Given the description of an element on the screen output the (x, y) to click on. 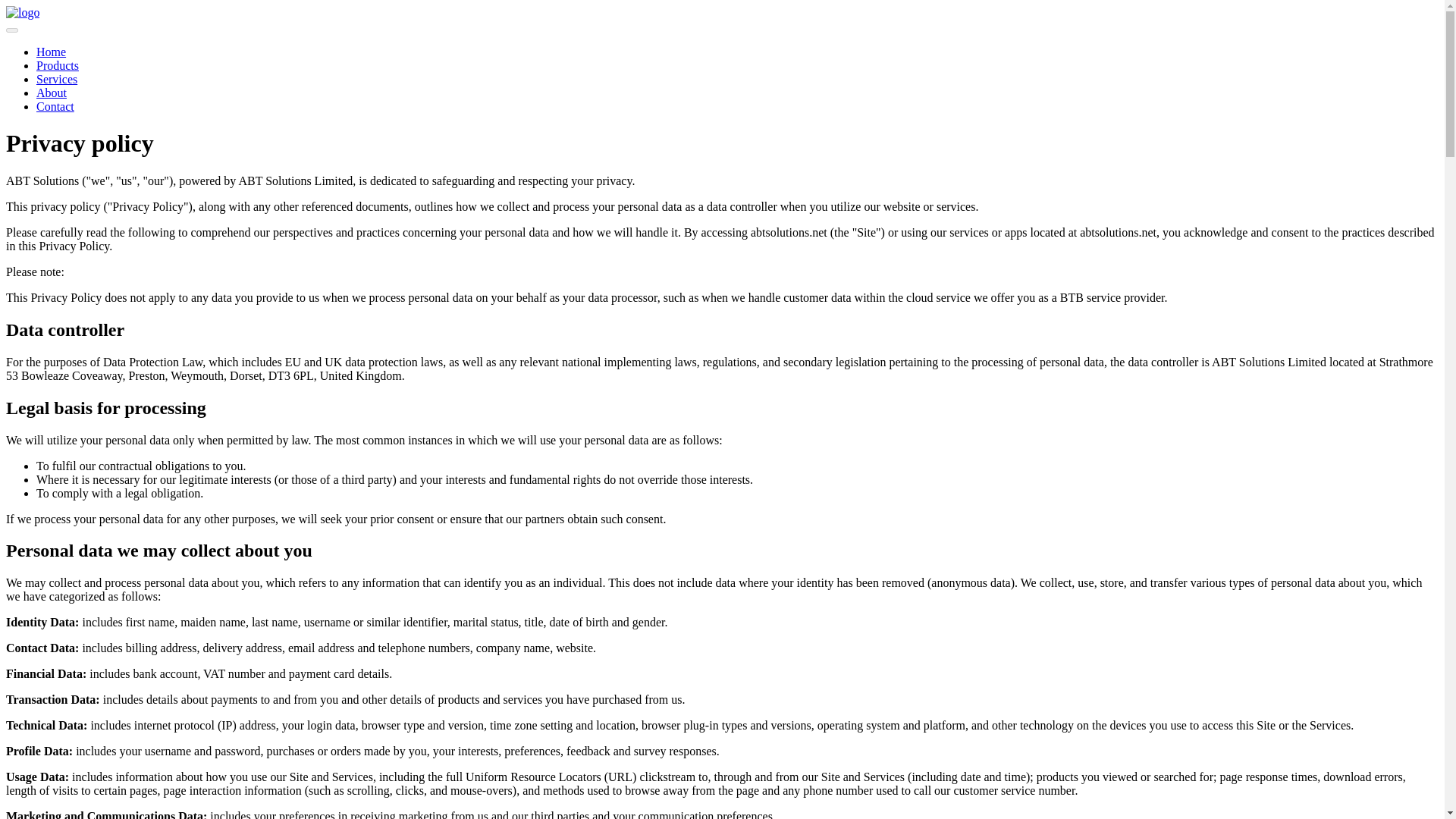
Services (56, 78)
About (51, 92)
Products (57, 65)
Home (50, 51)
Products (57, 65)
Contact (55, 106)
Home (50, 51)
Services (56, 78)
About (51, 92)
Contact (55, 106)
